Given the description of an element on the screen output the (x, y) to click on. 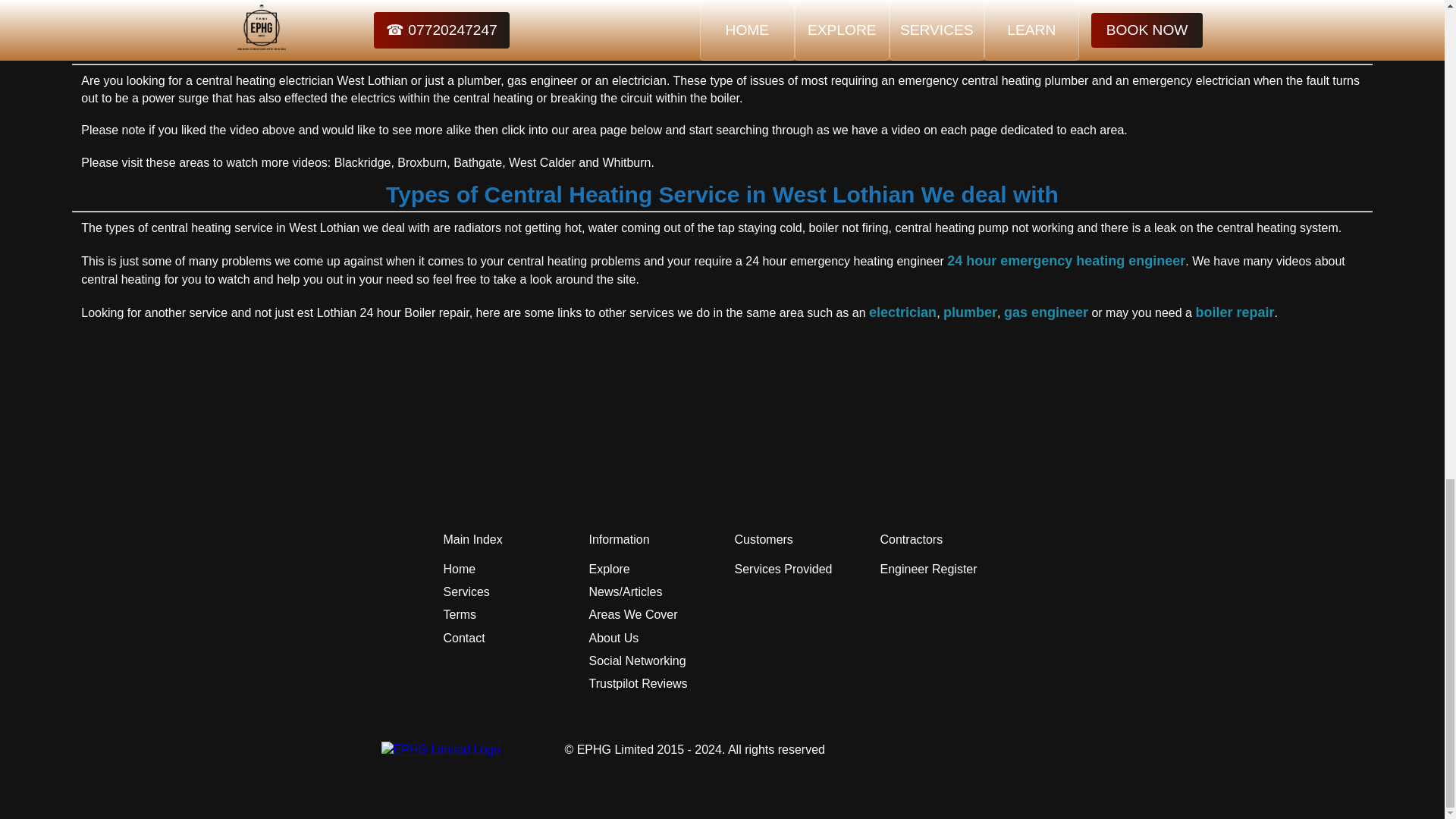
About EPHG Logo (443, 748)
24 hour emergency heating engineer (1066, 260)
gas engineer (1045, 312)
Areas We Cover (632, 614)
plumber (970, 312)
About Us (613, 638)
Contact (463, 638)
Services Provided (782, 569)
Electrician (902, 312)
Social Networking (636, 660)
